Given the description of an element on the screen output the (x, y) to click on. 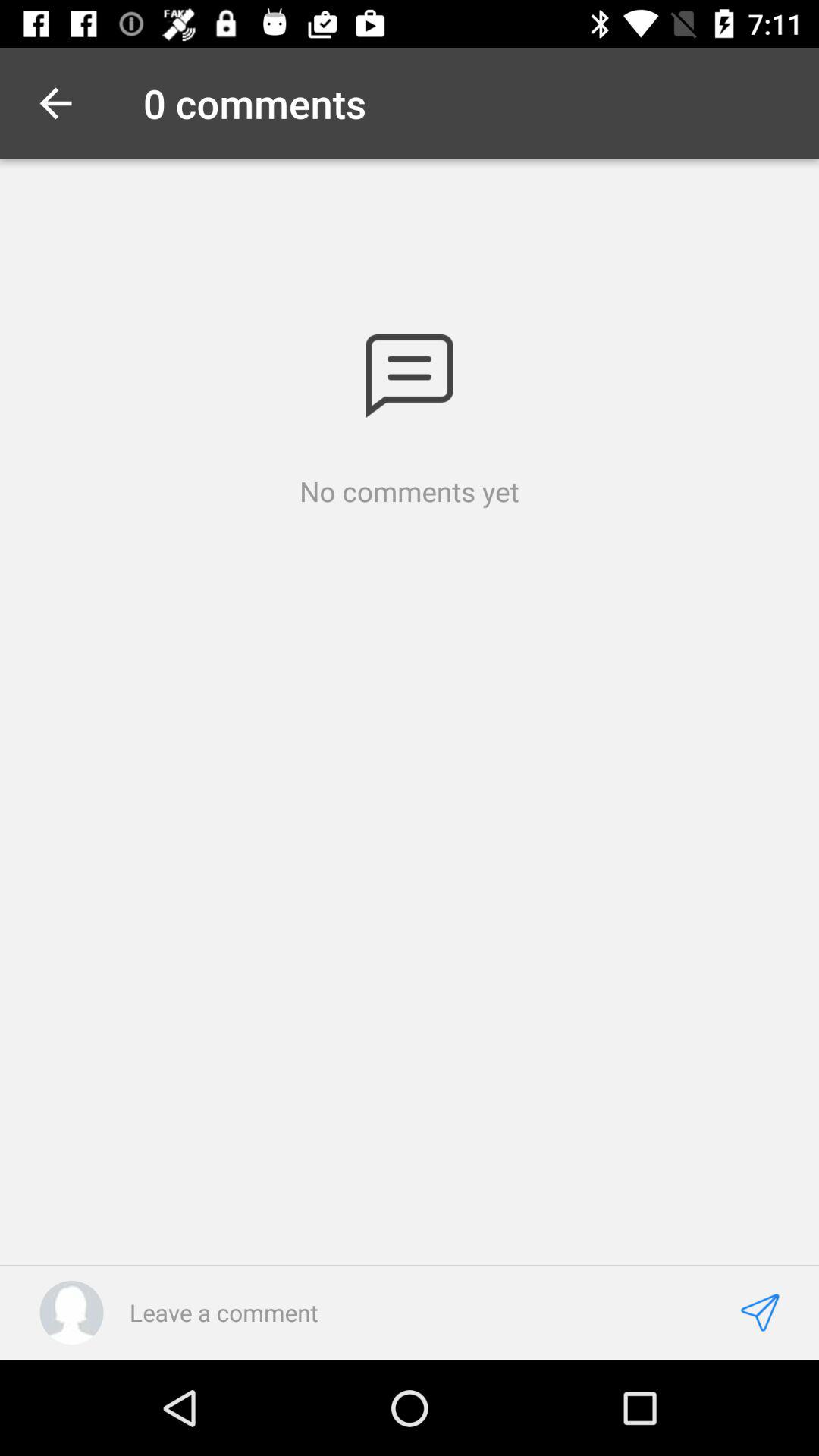
flip until the no comments yet icon (409, 491)
